Given the description of an element on the screen output the (x, y) to click on. 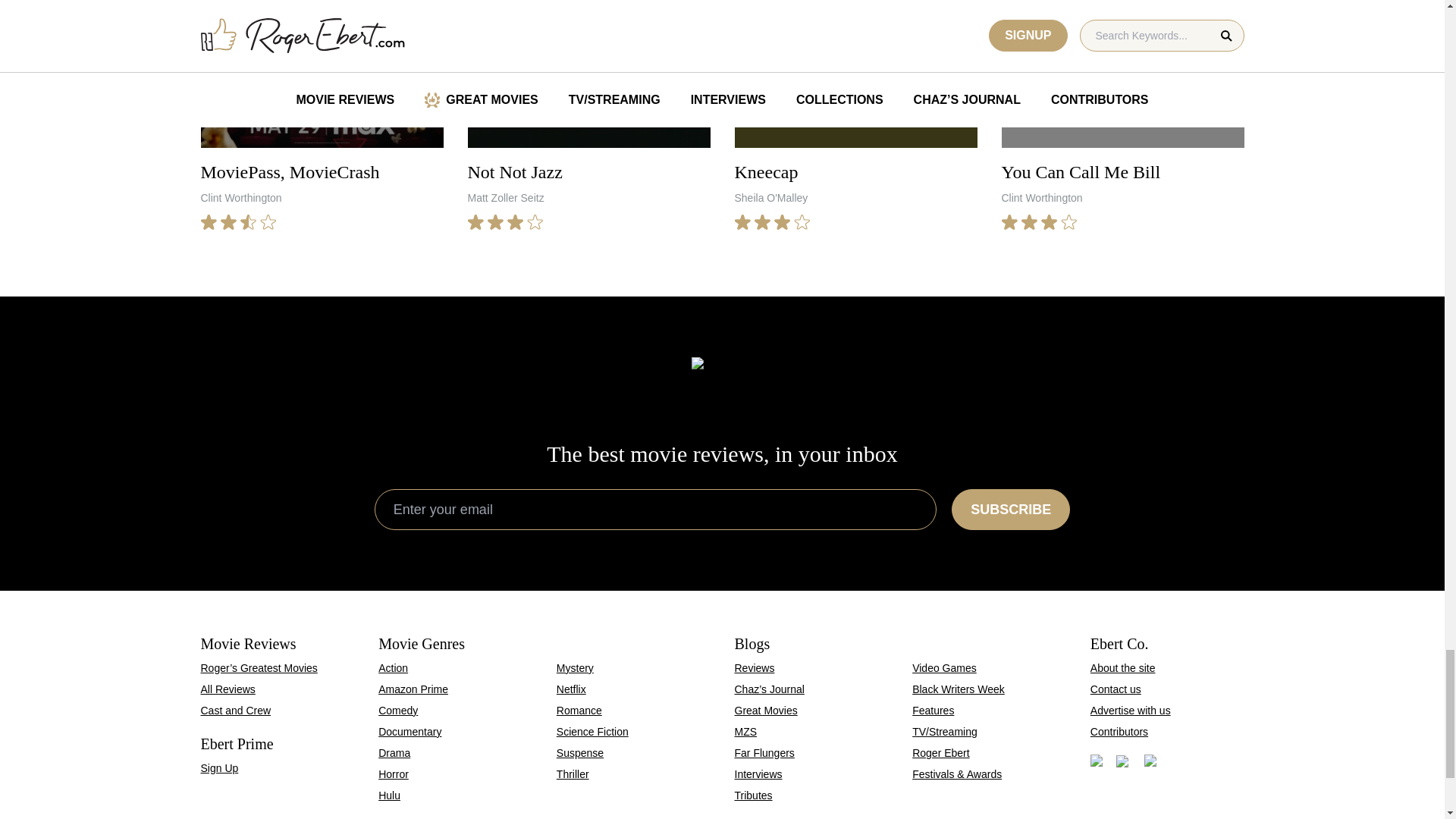
Subscribe (1011, 508)
Hulu (389, 795)
Documentary (409, 731)
Romance (321, 115)
Action (579, 710)
Amazon Prime (392, 667)
Horror (413, 689)
